Given the description of an element on the screen output the (x, y) to click on. 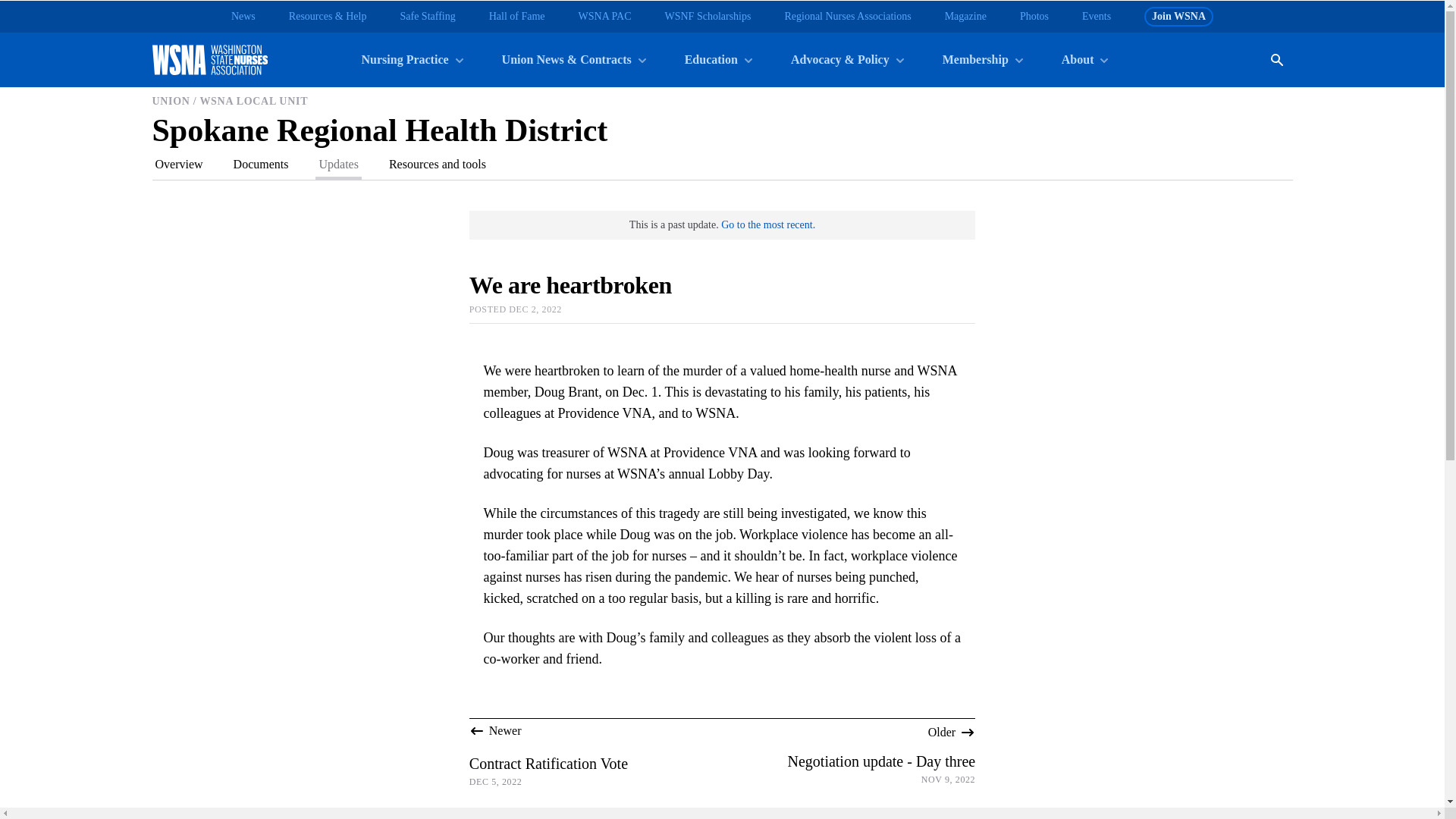
Magazine (965, 16)
Join WSNA (1178, 16)
Education (717, 59)
Nursing Practice (410, 59)
WSNA PAC (604, 16)
News (243, 16)
Safe Staffing (426, 16)
Regional Nurses Associations (847, 16)
Photos (1034, 16)
WSNF Scholarships (707, 16)
Hall of Fame (516, 16)
Events (1095, 16)
